Given the description of an element on the screen output the (x, y) to click on. 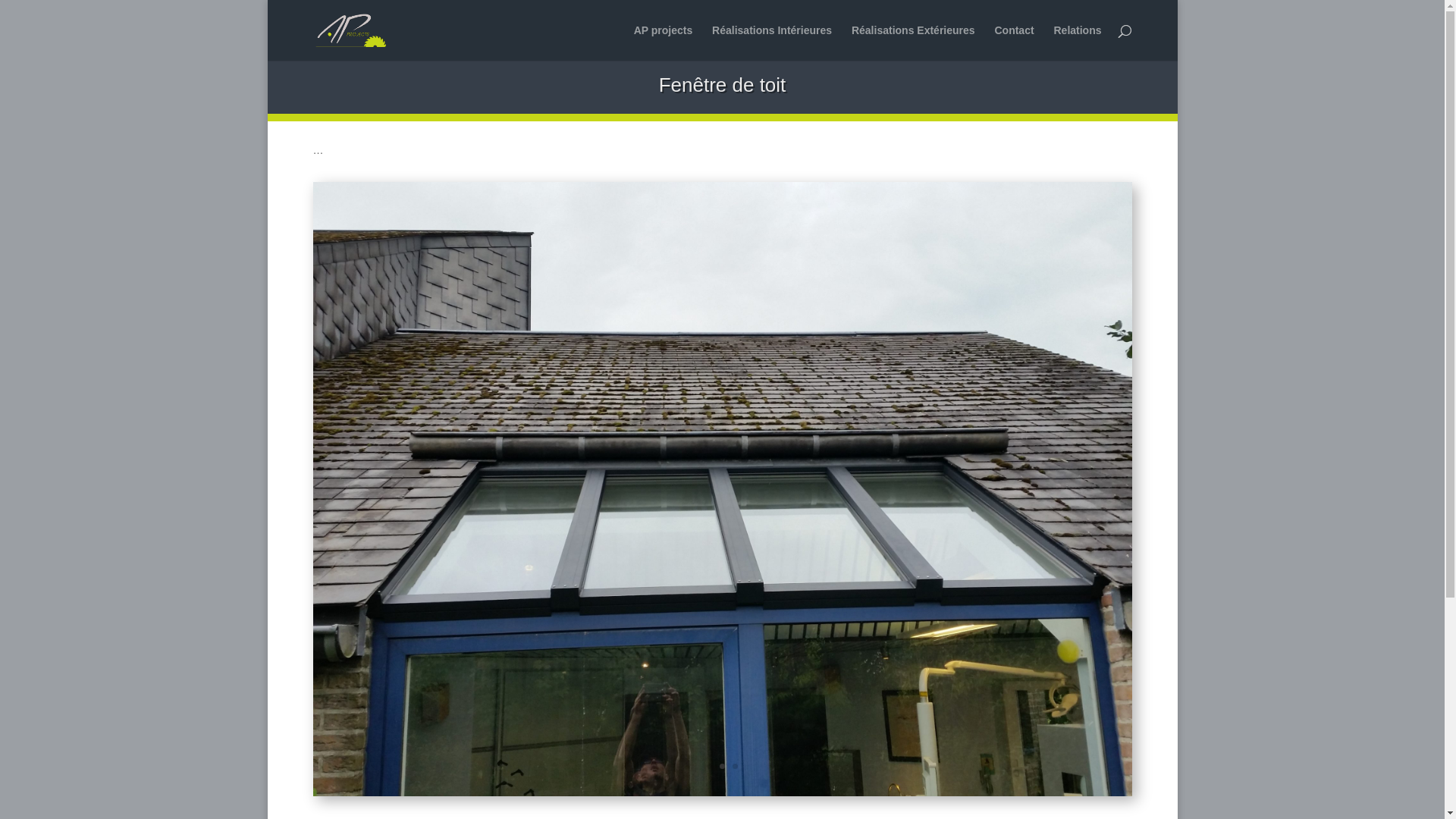
3 Element type: text (734, 765)
AP projects Element type: text (663, 42)
CHASSIS TOITURE Element type: hover (721, 792)
Relations Element type: text (1077, 42)
1 Element type: text (709, 765)
2 Element type: text (721, 765)
Contact Element type: text (1013, 42)
